Given the description of an element on the screen output the (x, y) to click on. 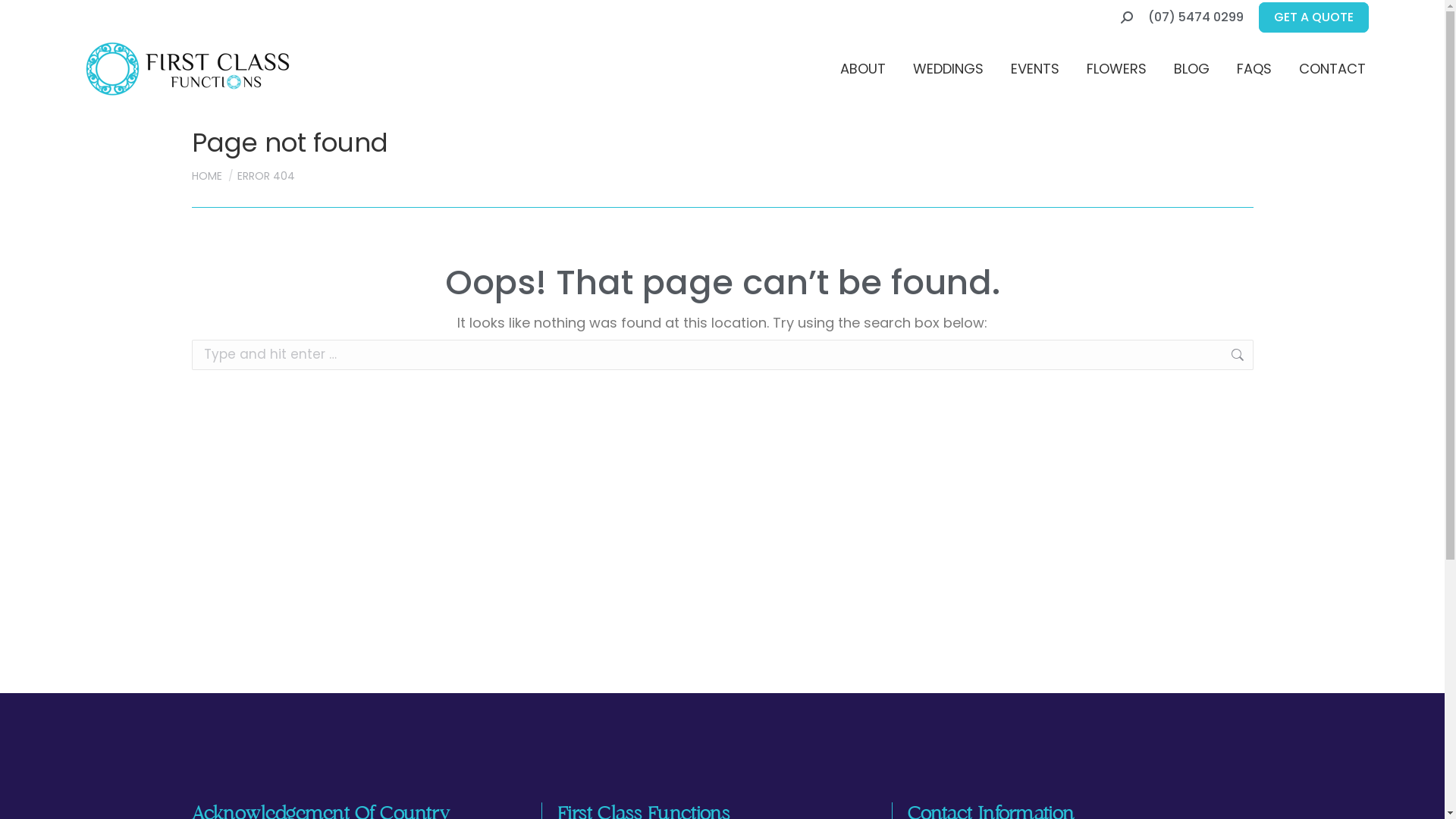
Go! Element type: text (28, 16)
EVENTS Element type: text (1034, 68)
(07) 5474 0299 Element type: text (1195, 17)
CONTACT Element type: text (1331, 68)
ABOUT Element type: text (862, 68)
FAQS Element type: text (1253, 68)
BLOG Element type: text (1191, 68)
Go! Element type: text (1280, 356)
FLOWERS Element type: text (1116, 68)
WEDDINGS Element type: text (948, 68)
HOME Element type: text (206, 175)
GET A QUOTE Element type: text (1313, 17)
